Given the description of an element on the screen output the (x, y) to click on. 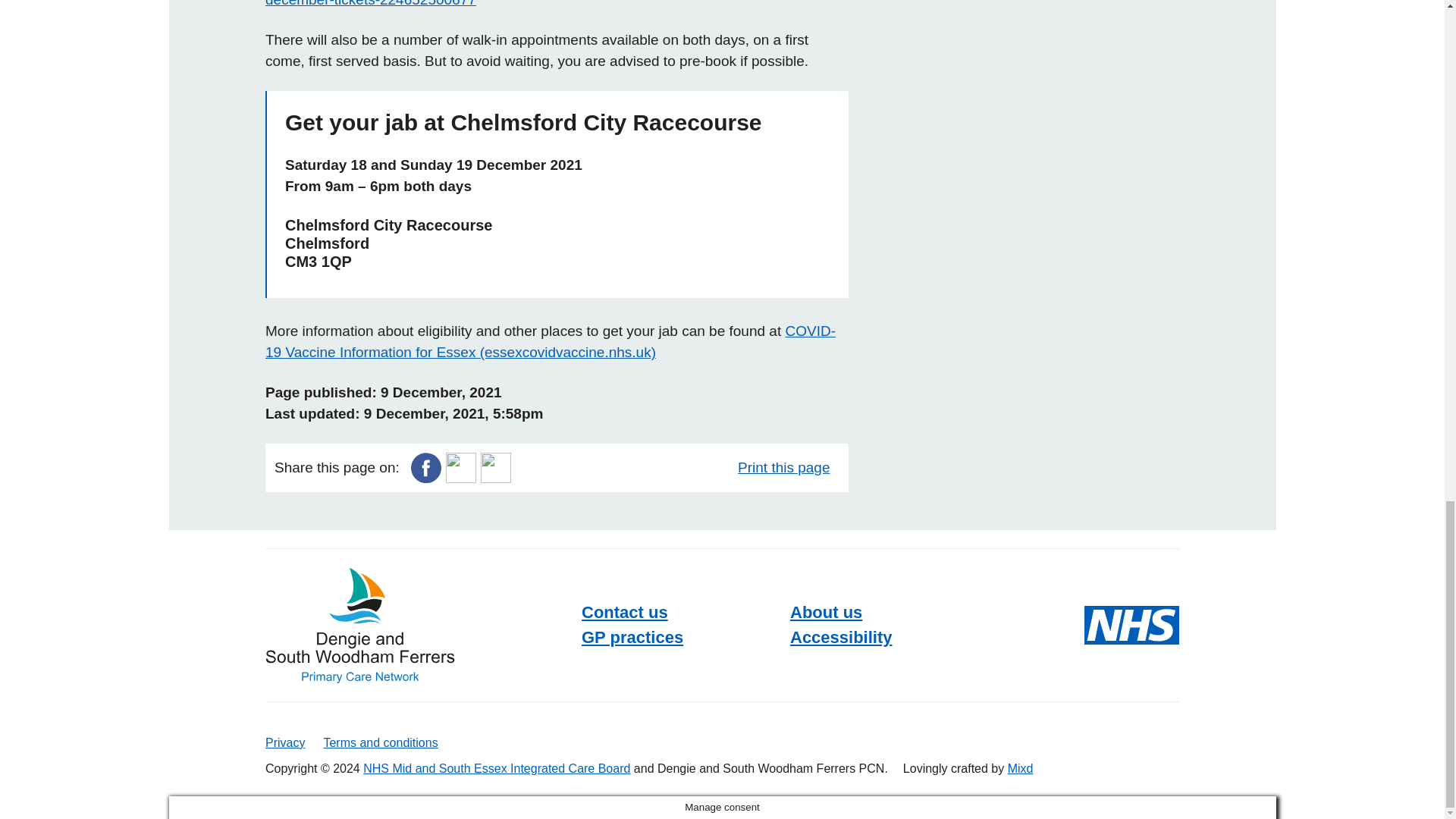
Print this page (788, 467)
About us (837, 611)
Share on Facebook (425, 466)
The Dengie and SWF PCN Homepage (359, 625)
GP practices (643, 637)
Contact us (635, 611)
Share on Twitter (460, 466)
Share via Email (495, 466)
